Given the description of an element on the screen output the (x, y) to click on. 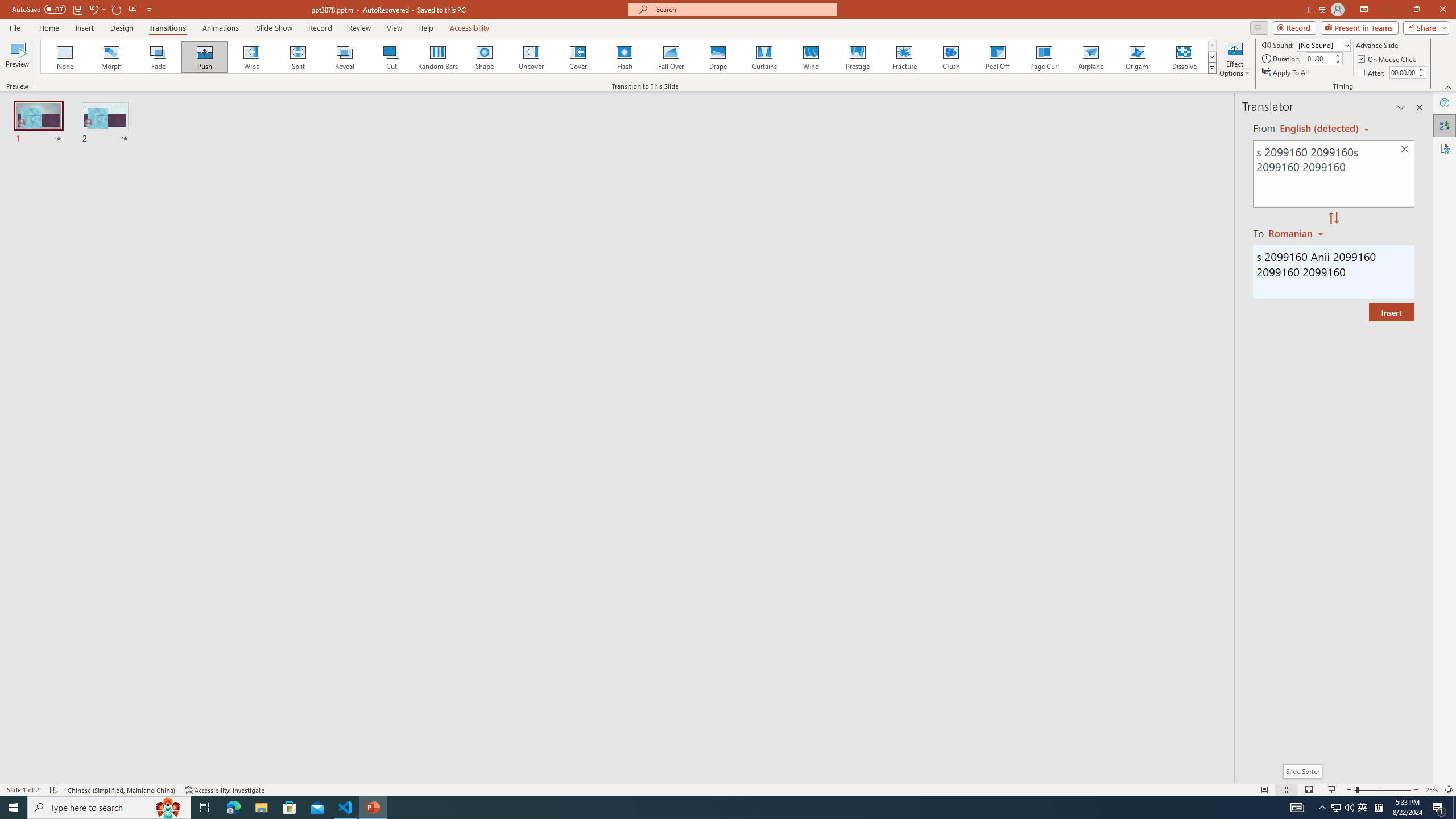
Morph (111, 56)
Flash (624, 56)
Preview (17, 58)
Zoom 25% (1431, 790)
Page Curl (1043, 56)
Wipe (251, 56)
On Mouse Click (1387, 58)
More (1420, 69)
Sound (1324, 44)
